Given the description of an element on the screen output the (x, y) to click on. 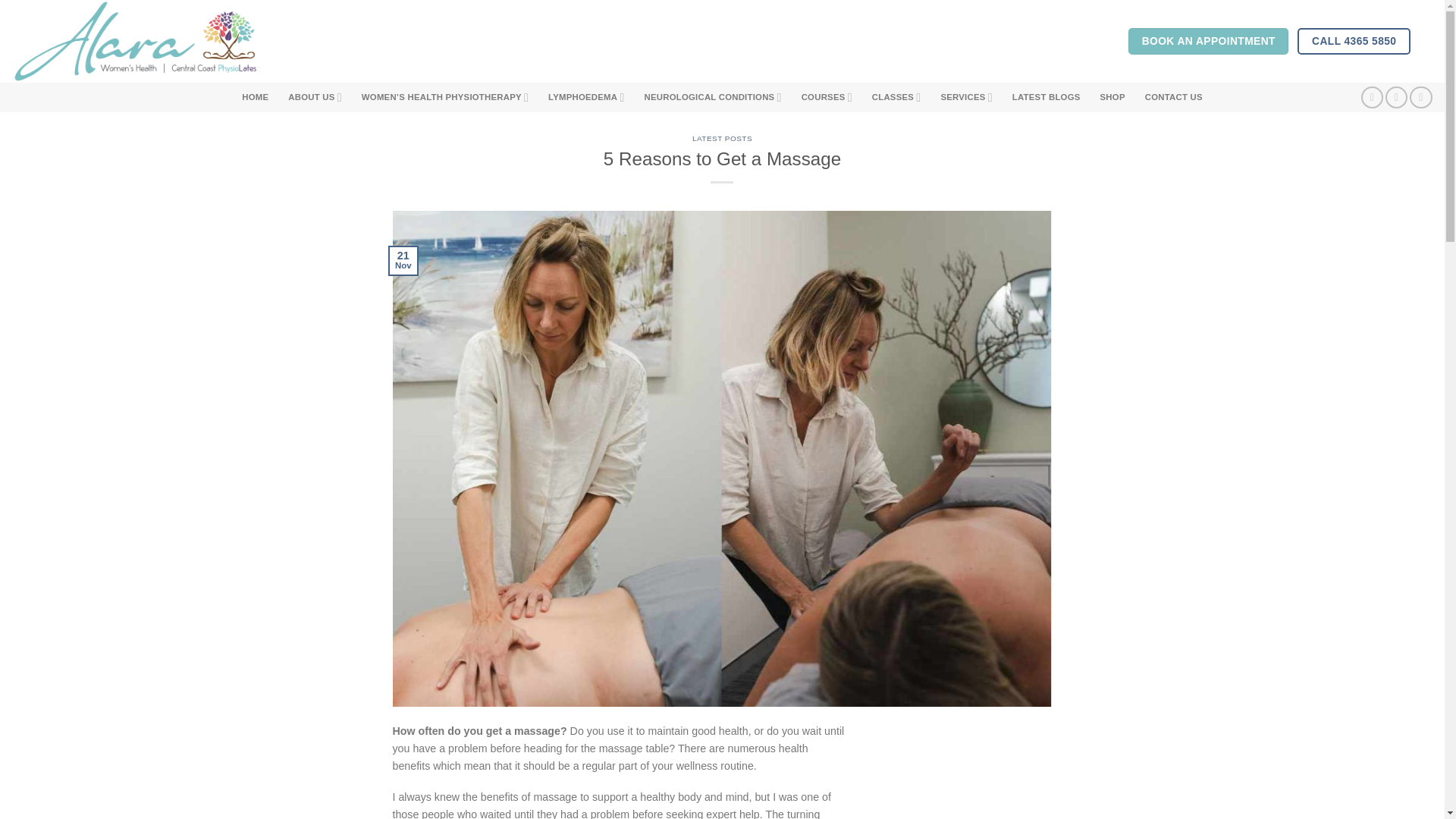
Send us an email (1420, 97)
COURSES (826, 97)
NEUROLOGICAL CONDITIONS (713, 97)
LYMPHOEDEMA (586, 97)
Follow on Facebook (1372, 97)
ABOUT US (315, 97)
BOOK AN APPOINTMENT (1208, 40)
Follow on Instagram (1396, 97)
CALL 4365 5850 (1353, 40)
HOME (254, 97)
